Given the description of an element on the screen output the (x, y) to click on. 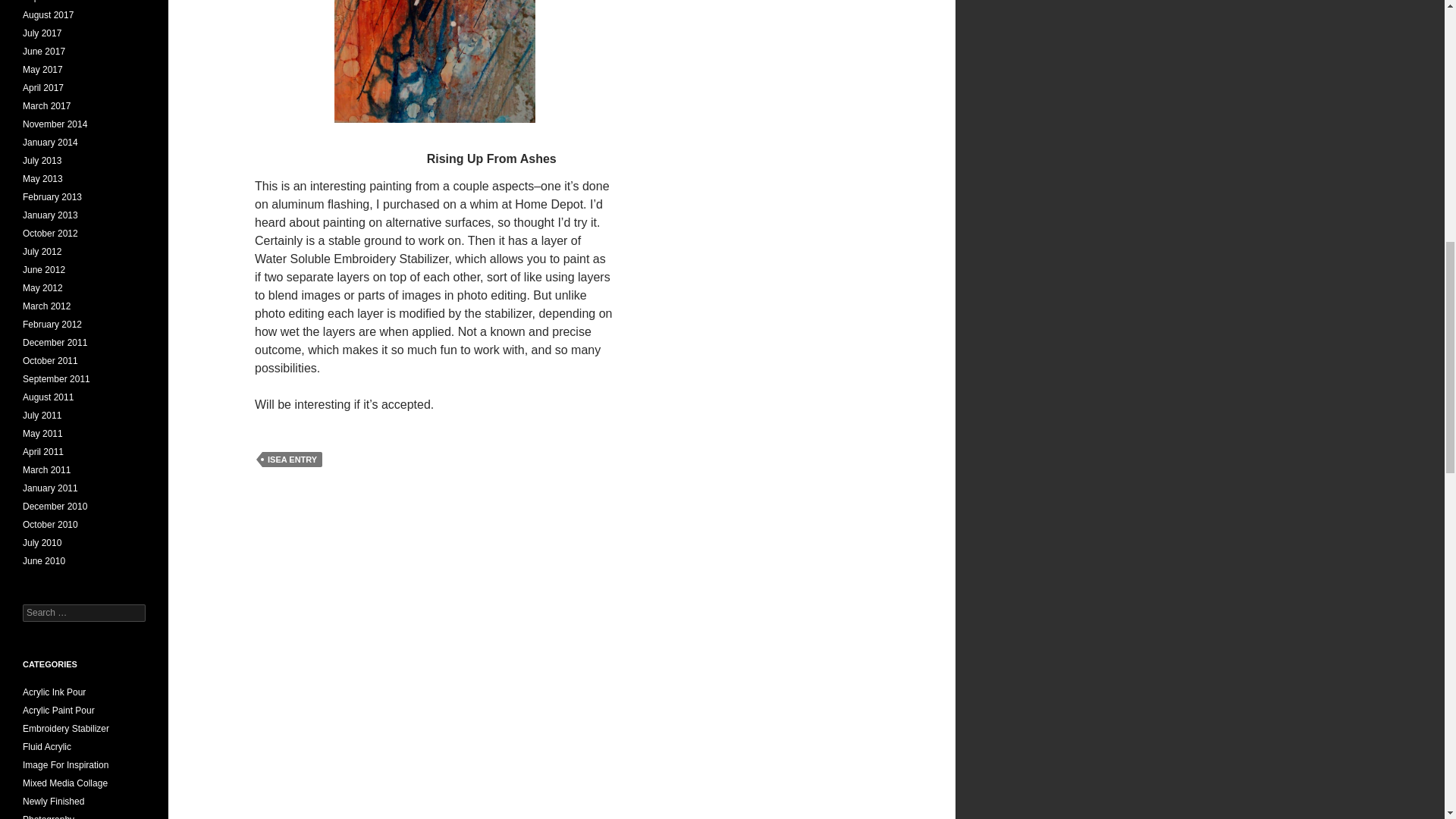
ISEA ENTRY (291, 459)
